Given the description of an element on the screen output the (x, y) to click on. 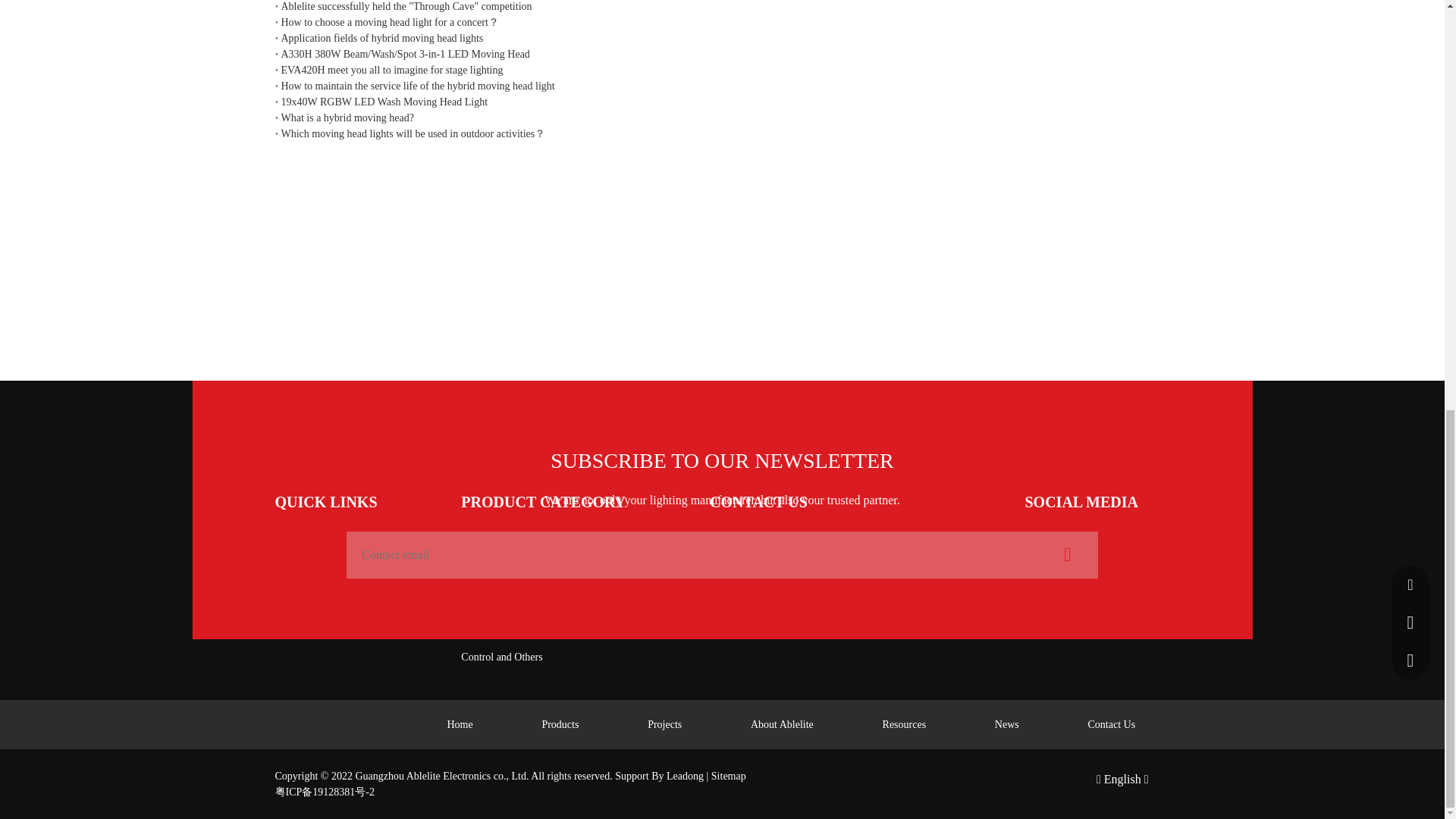
Certifications (303, 556)
Application fields of hybrid moving head lights (722, 37)
EVA420H meet you all to imagine for stage lighting (722, 69)
Company Profile (311, 531)
19x40W RGBW LED Wash Moving Head Light (722, 101)
Service (290, 582)
EVA420H meet you all to imagine for stage lighting (722, 69)
19x40W RGBW LED Wash Moving Head Light (722, 101)
